Given the description of an element on the screen output the (x, y) to click on. 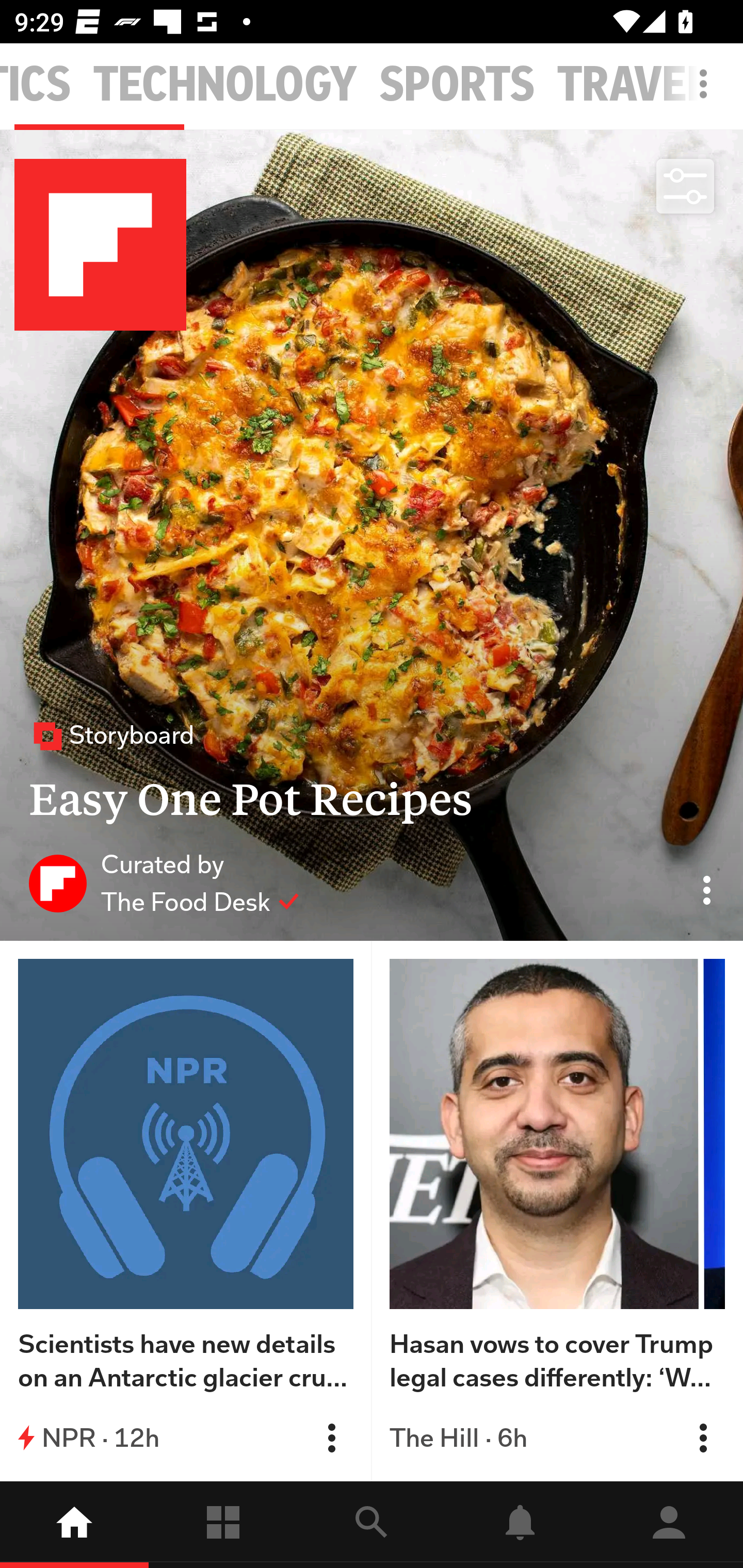
TECHNOLOGY (225, 84)
SPORTS (456, 84)
TRAVEL (632, 84)
More options (706, 93)
Curated by The Food Desk (163, 882)
NPR · 12h Flip into Magazine (185, 1437)
The Hill · 6h Flip into Magazine (557, 1437)
Flip into Magazine (331, 1437)
Flip into Magazine (703, 1437)
home (74, 1524)
Following (222, 1524)
explore (371, 1524)
Notifications (519, 1524)
Profile (668, 1524)
